Given the description of an element on the screen output the (x, y) to click on. 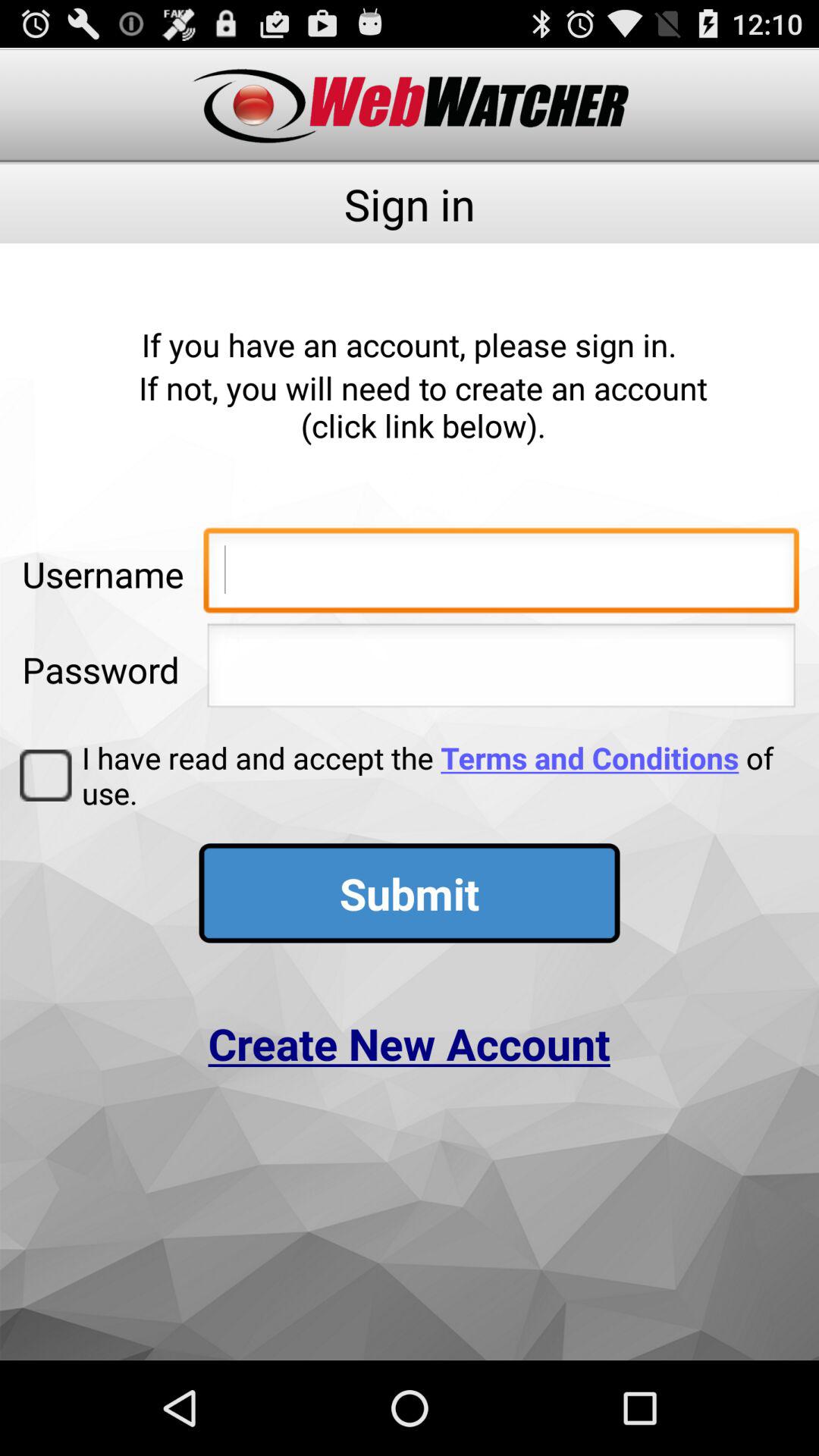
open the icon next to i have read icon (45, 775)
